Given the description of an element on the screen output the (x, y) to click on. 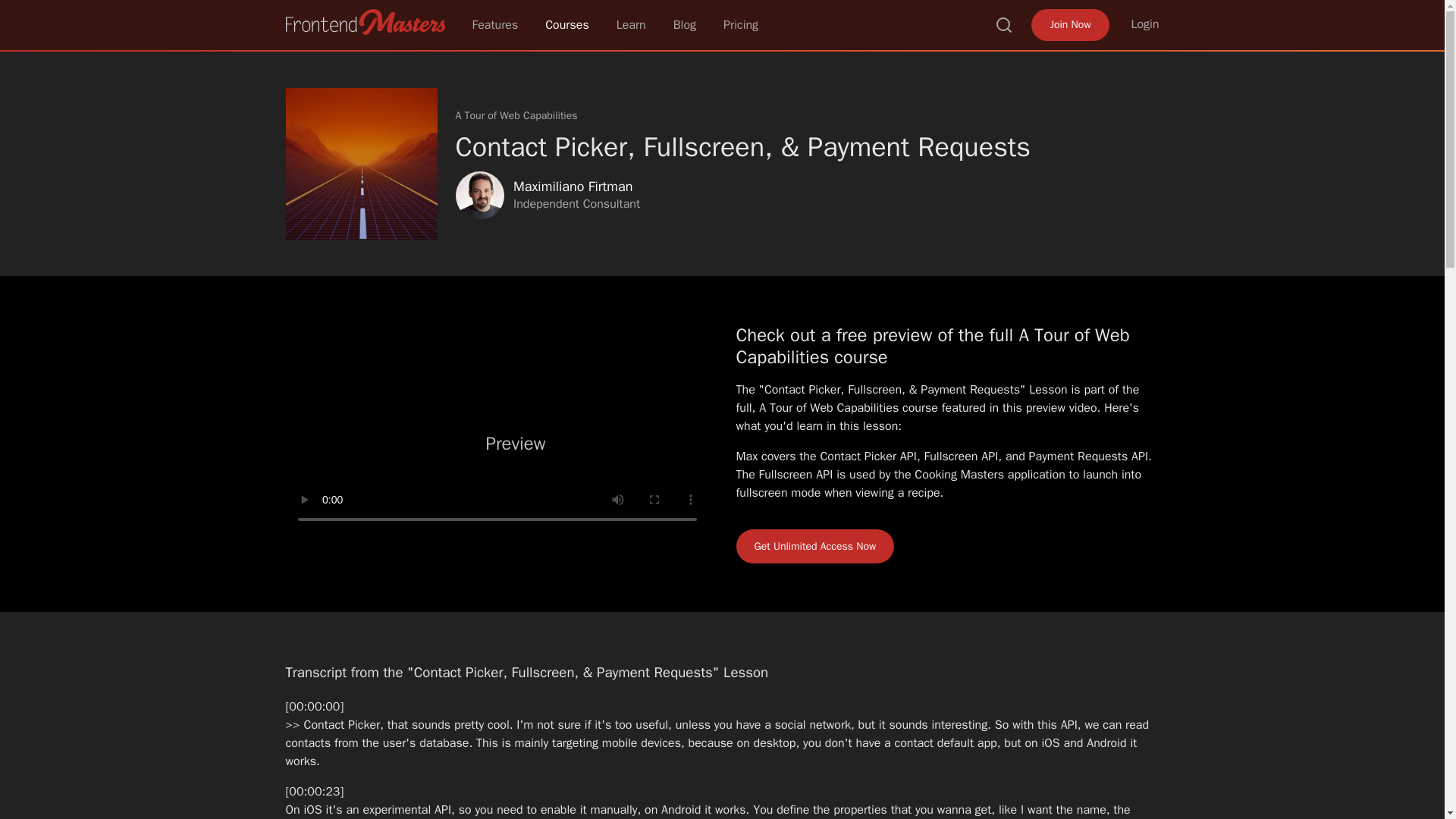
Learn (630, 24)
Get Unlimited Access Now (814, 546)
Maximiliano Firtman (571, 186)
Blog (683, 24)
Join Now (1069, 24)
Features (494, 24)
Courses (566, 24)
Search (1003, 24)
FrontendMasters (364, 22)
A Tour of Web Capabilities (515, 115)
Login (1144, 24)
Pricing (740, 24)
Maximiliano Firtman (478, 195)
